Given the description of an element on the screen output the (x, y) to click on. 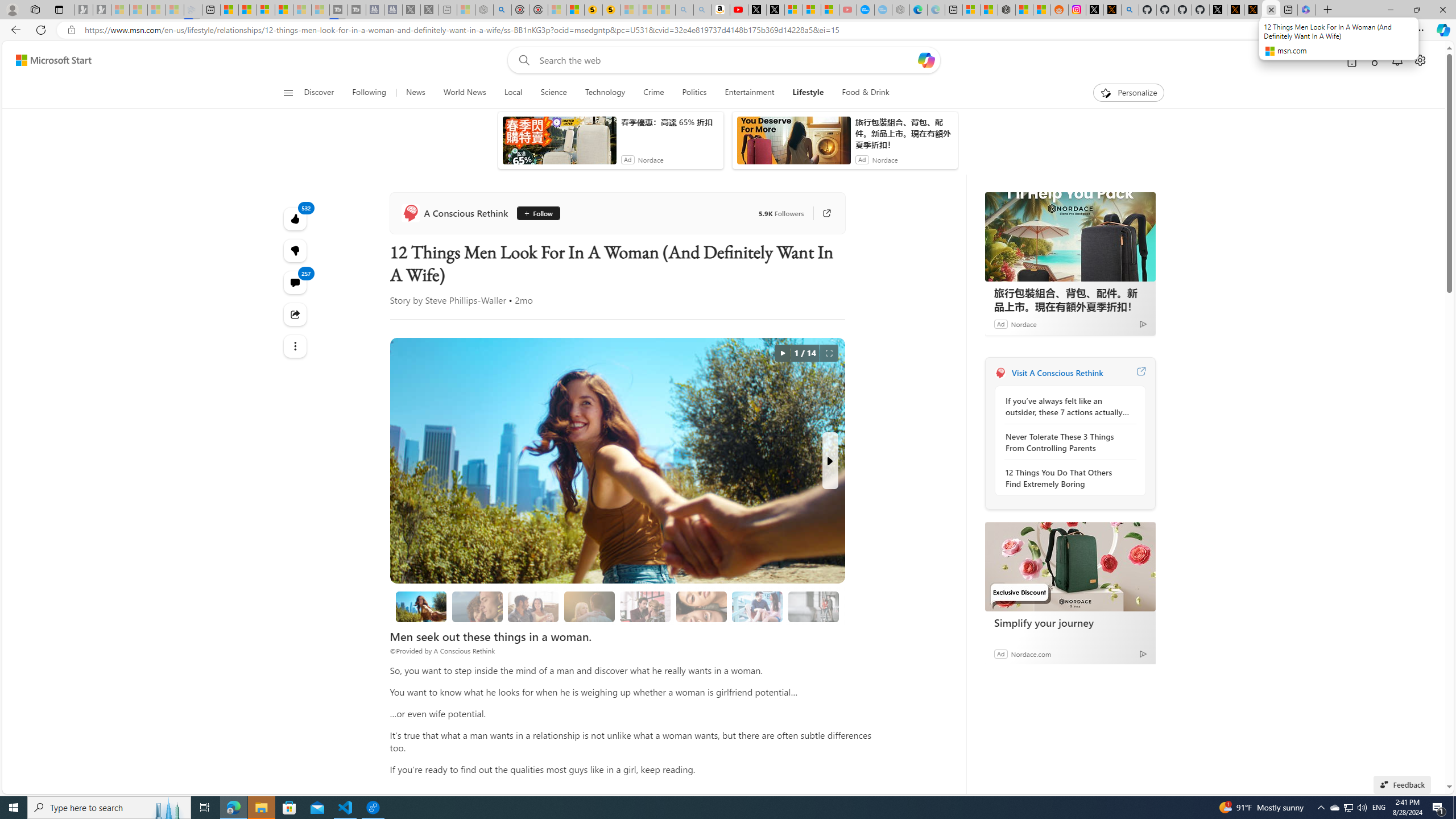
Politics (694, 92)
Lifestyle (807, 92)
4. She is supportive. (645, 606)
7. She can communicate her needs and wants. (812, 606)
poe - Search (502, 9)
Web search (520, 60)
The most popular Google 'how to' searches - Sleeping (882, 9)
